Given the description of an element on the screen output the (x, y) to click on. 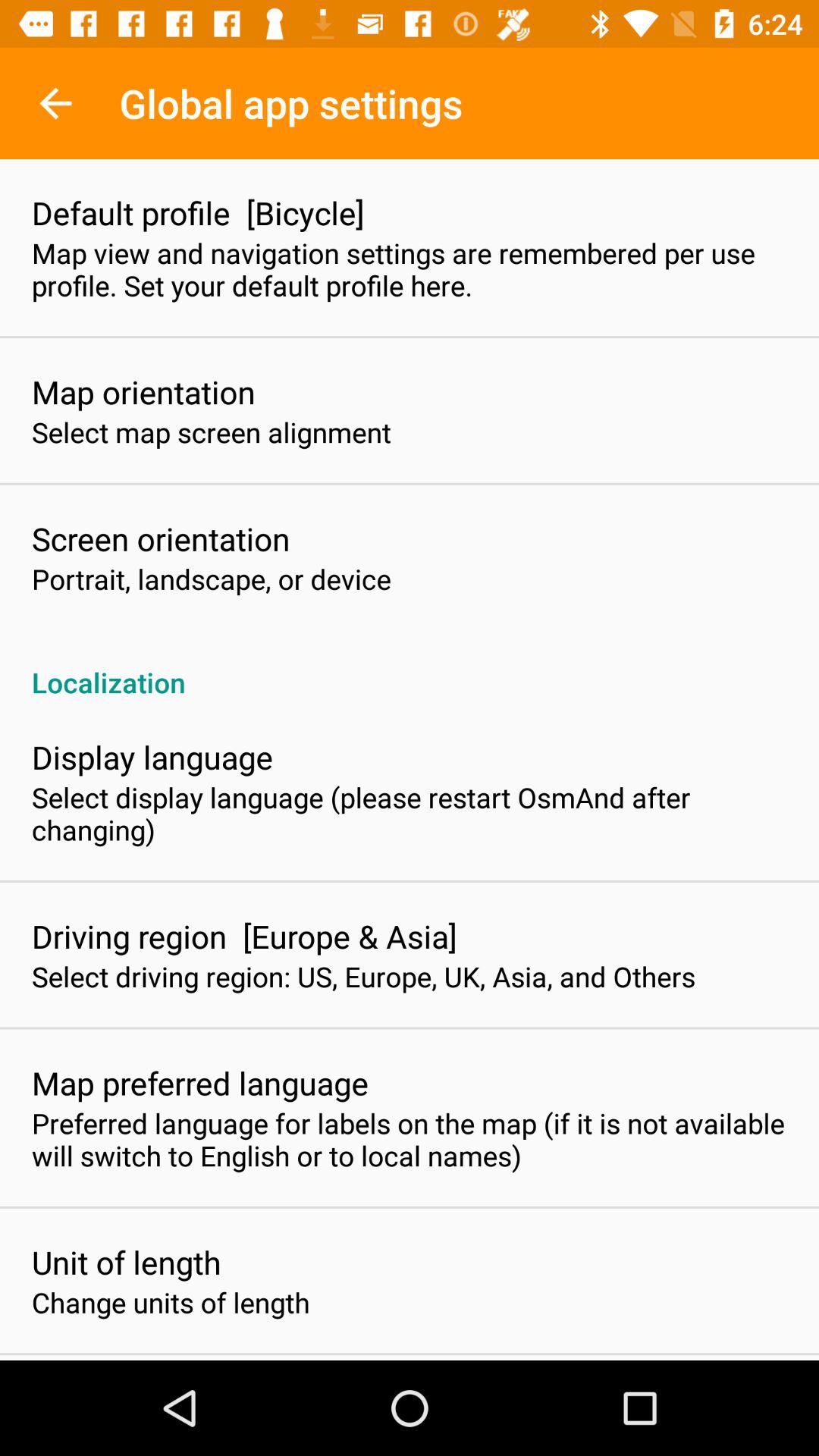
turn on icon above map orientation icon (409, 269)
